Given the description of an element on the screen output the (x, y) to click on. 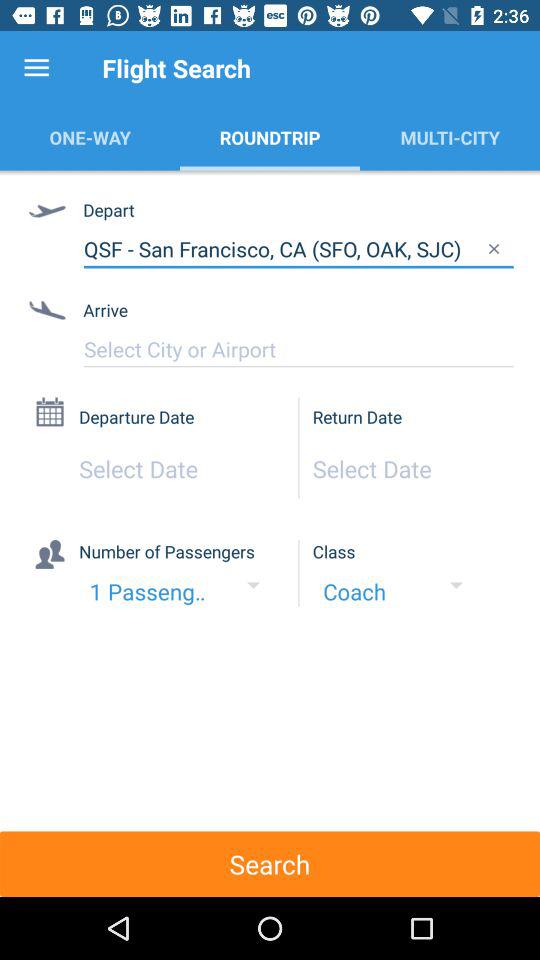
go to airplane mode (298, 349)
